Given the description of an element on the screen output the (x, y) to click on. 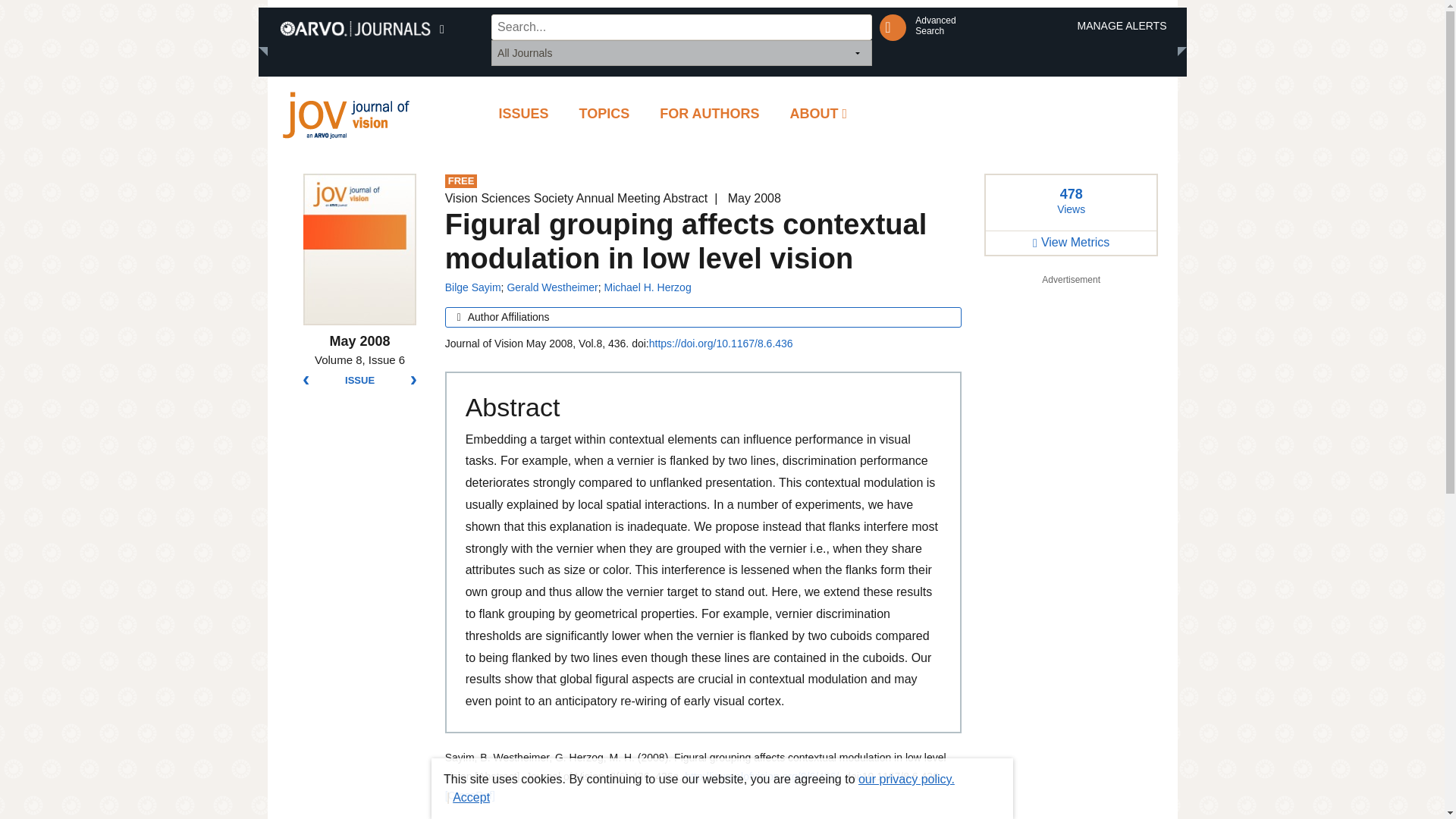
Bilge Sayim (472, 287)
ABOUT (818, 114)
TOPICS (604, 114)
ISSUE (935, 25)
FOR AUTHORS (359, 380)
ISSUES (709, 114)
Gerald Westheimer (523, 114)
Michael H. Herzog (551, 287)
